Given the description of an element on the screen output the (x, y) to click on. 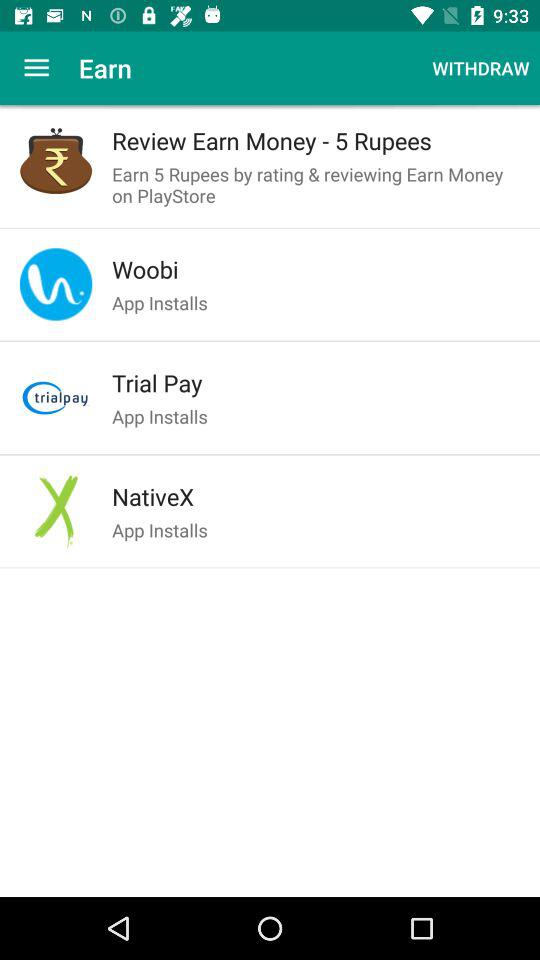
select the item above app installs icon (316, 383)
